Given the description of an element on the screen output the (x, y) to click on. 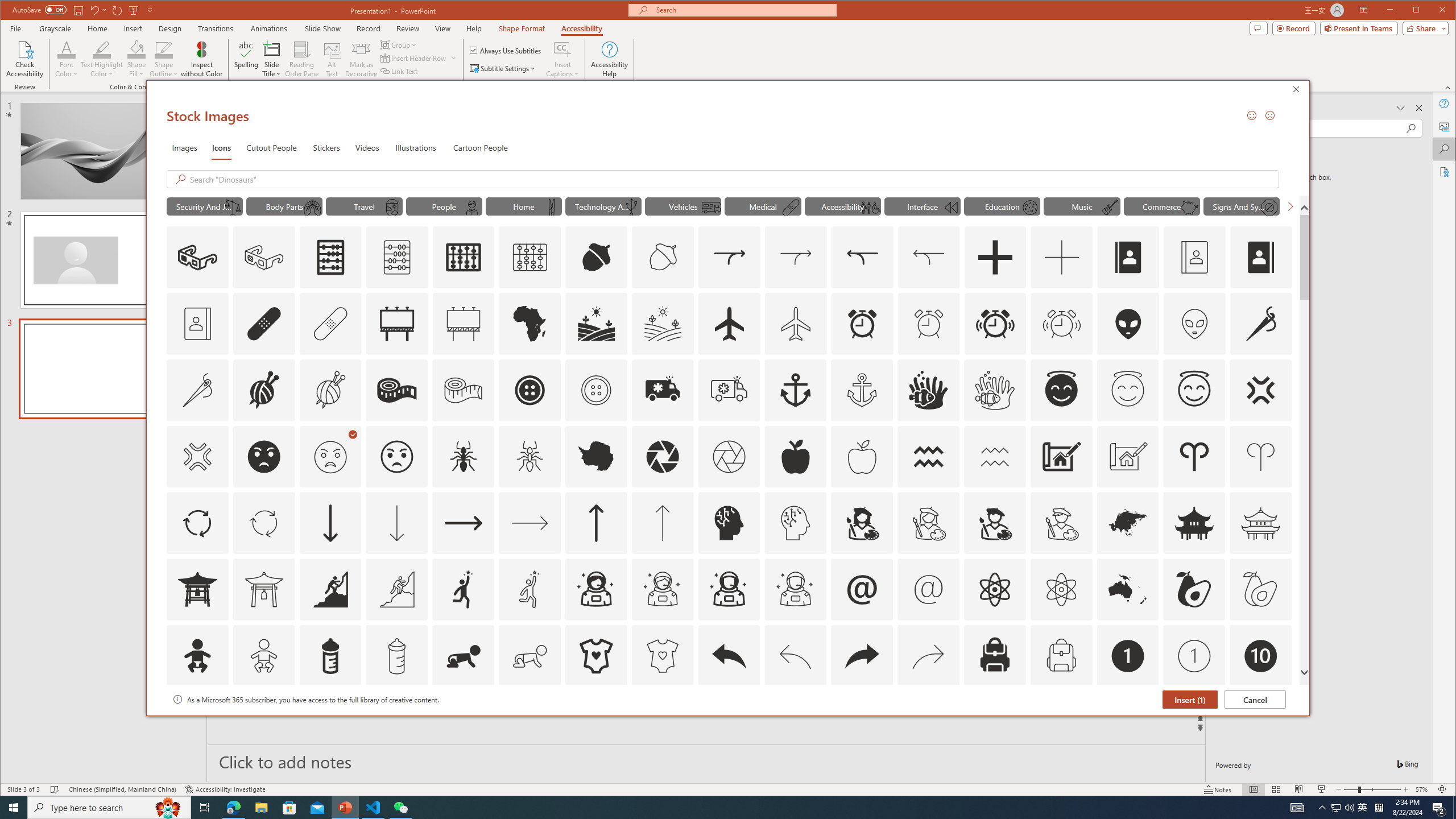
Cutout People (271, 147)
AutomationID: Icons_Atom_M (1061, 589)
AutomationID: Icons_Beginning_M (950, 207)
Slide Title (271, 48)
AutomationID: Icons_AnemoneAndClownfish_M (994, 389)
AutomationID: Icons_Advertising (397, 323)
